Given the description of an element on the screen output the (x, y) to click on. 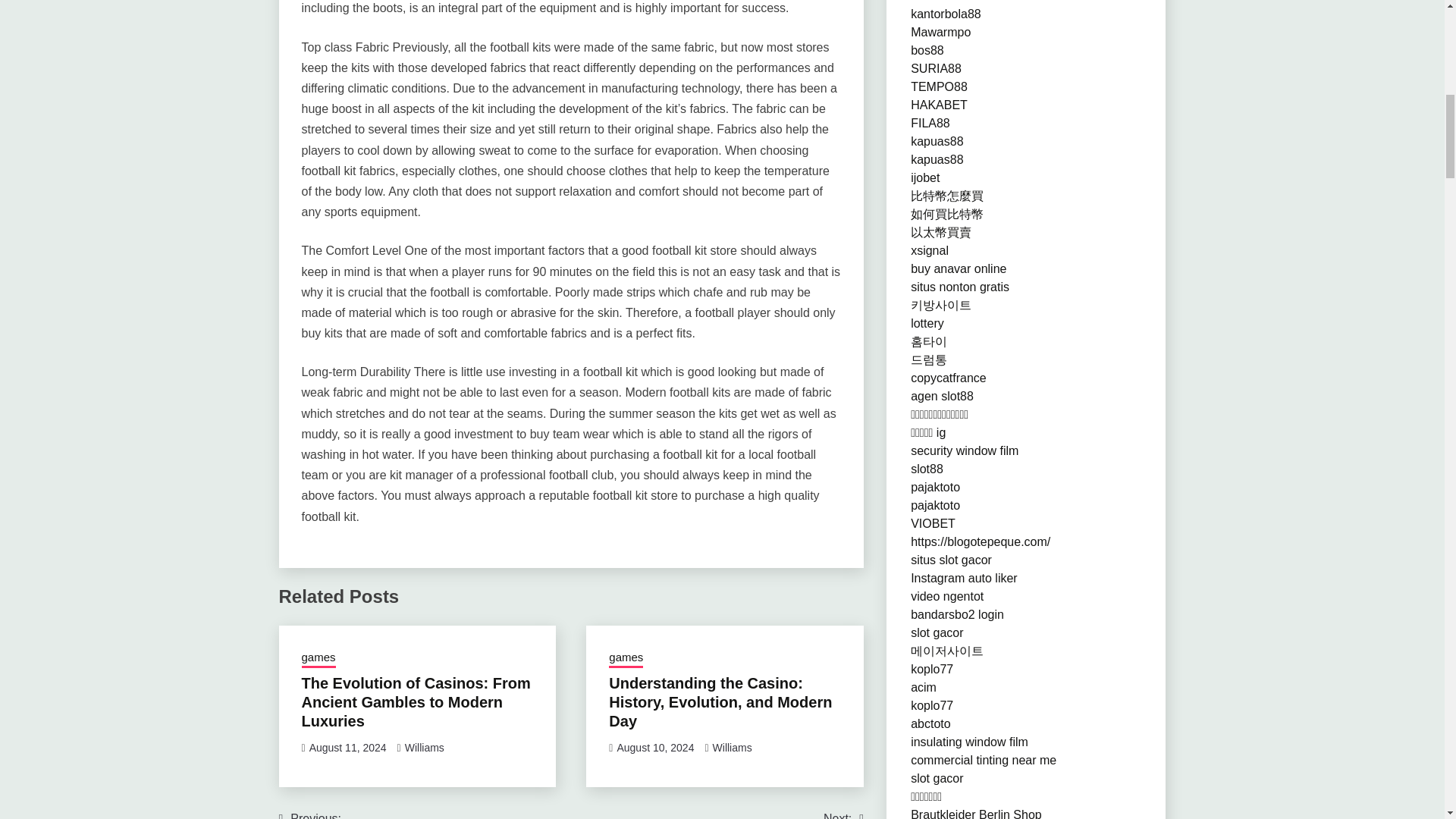
games (625, 659)
games (318, 659)
August 11, 2024 (347, 747)
August 10, 2024 (654, 747)
Understanding the Casino: History, Evolution, and Modern Day (719, 701)
Williams (424, 747)
Williams (732, 747)
